Given the description of an element on the screen output the (x, y) to click on. 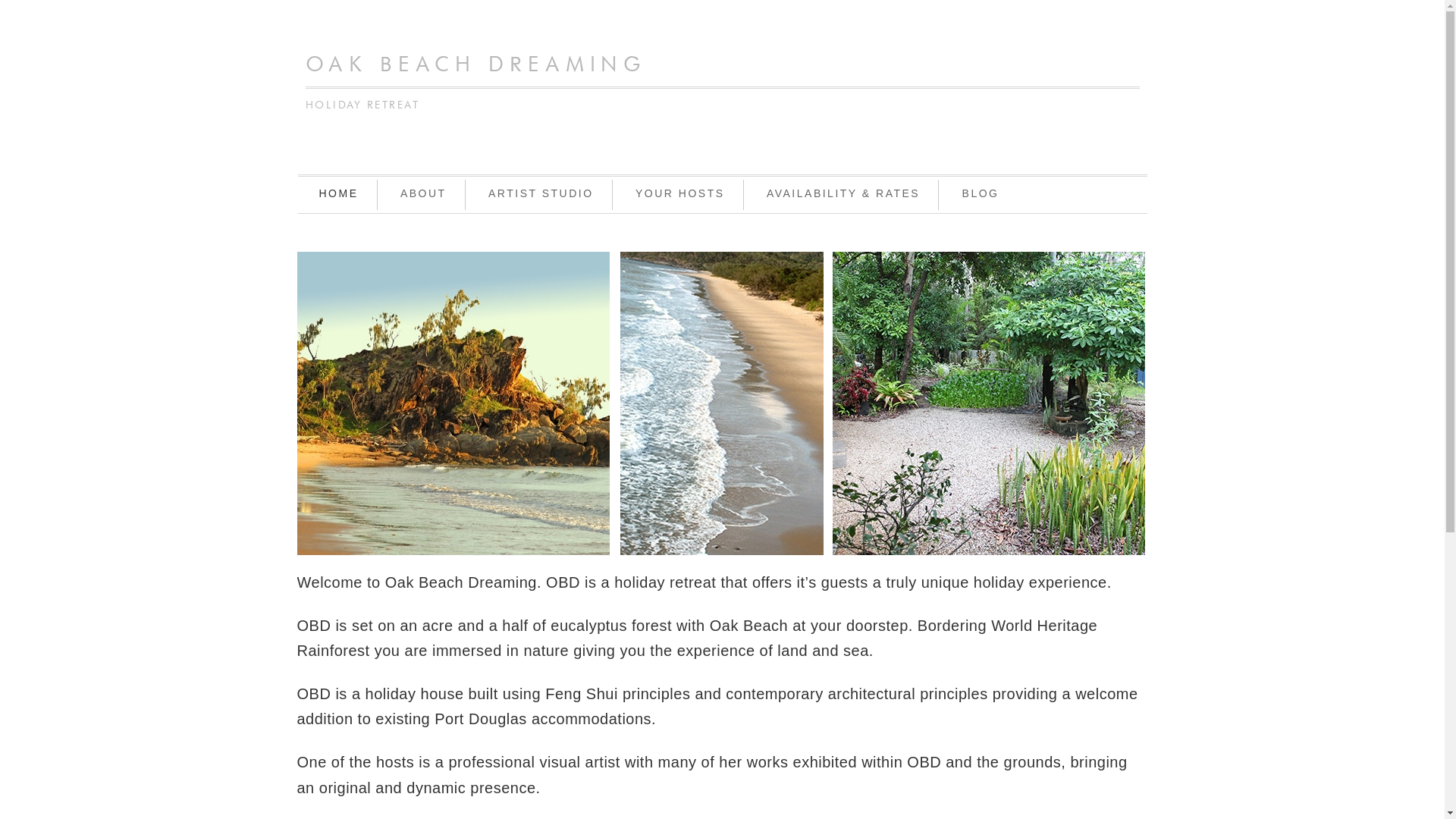
AVAILABILITY & RATES Element type: text (843, 194)
BLOG Element type: text (980, 194)
ARTIST STUDIO Element type: text (540, 194)
OAK BEACH DREAMING Element type: text (475, 65)
YOUR HOSTS Element type: text (680, 194)
ABOUT Element type: text (423, 194)
HOME Element type: text (338, 194)
